Given the description of an element on the screen output the (x, y) to click on. 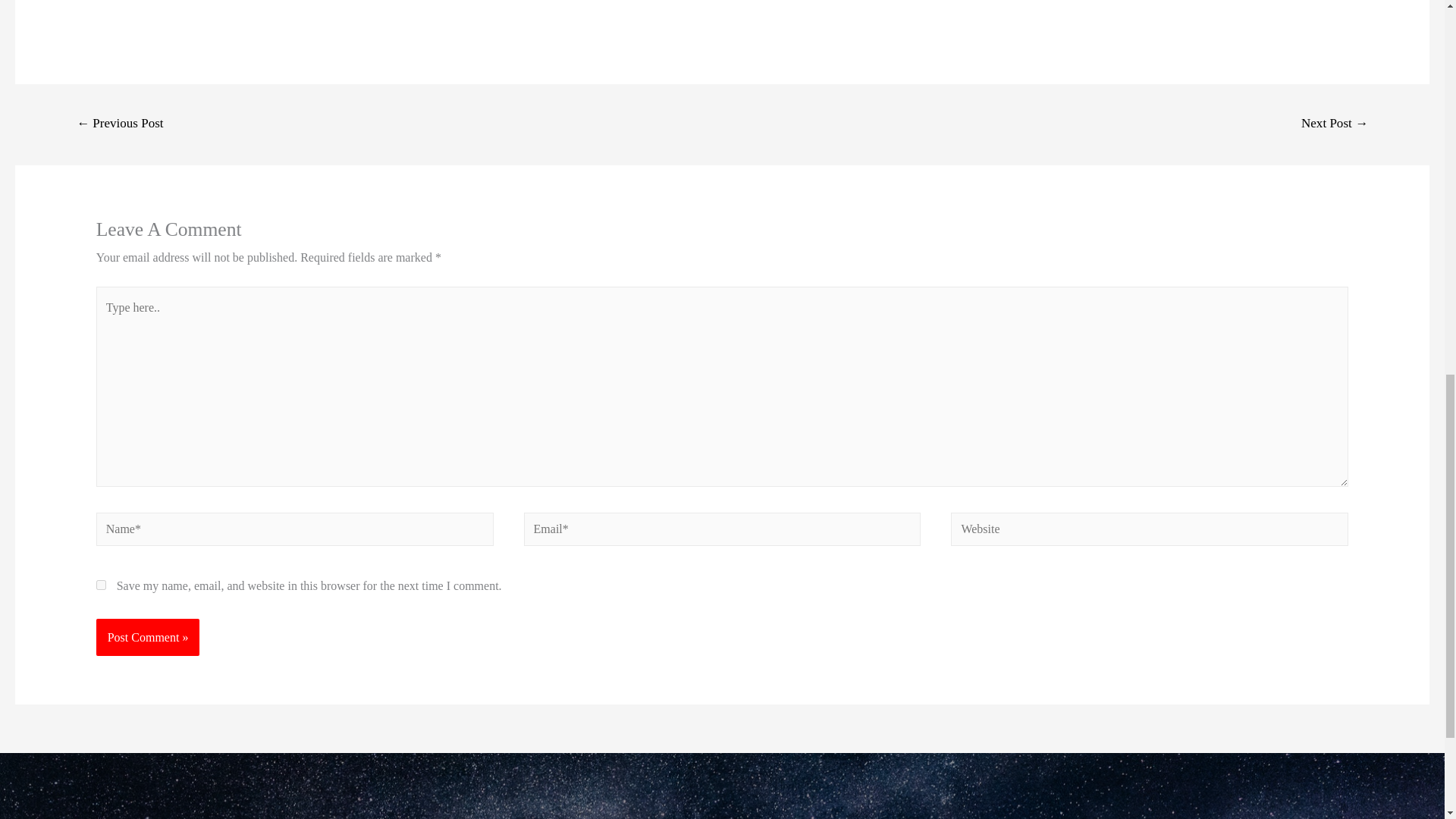
yes (101, 584)
